Given the description of an element on the screen output the (x, y) to click on. 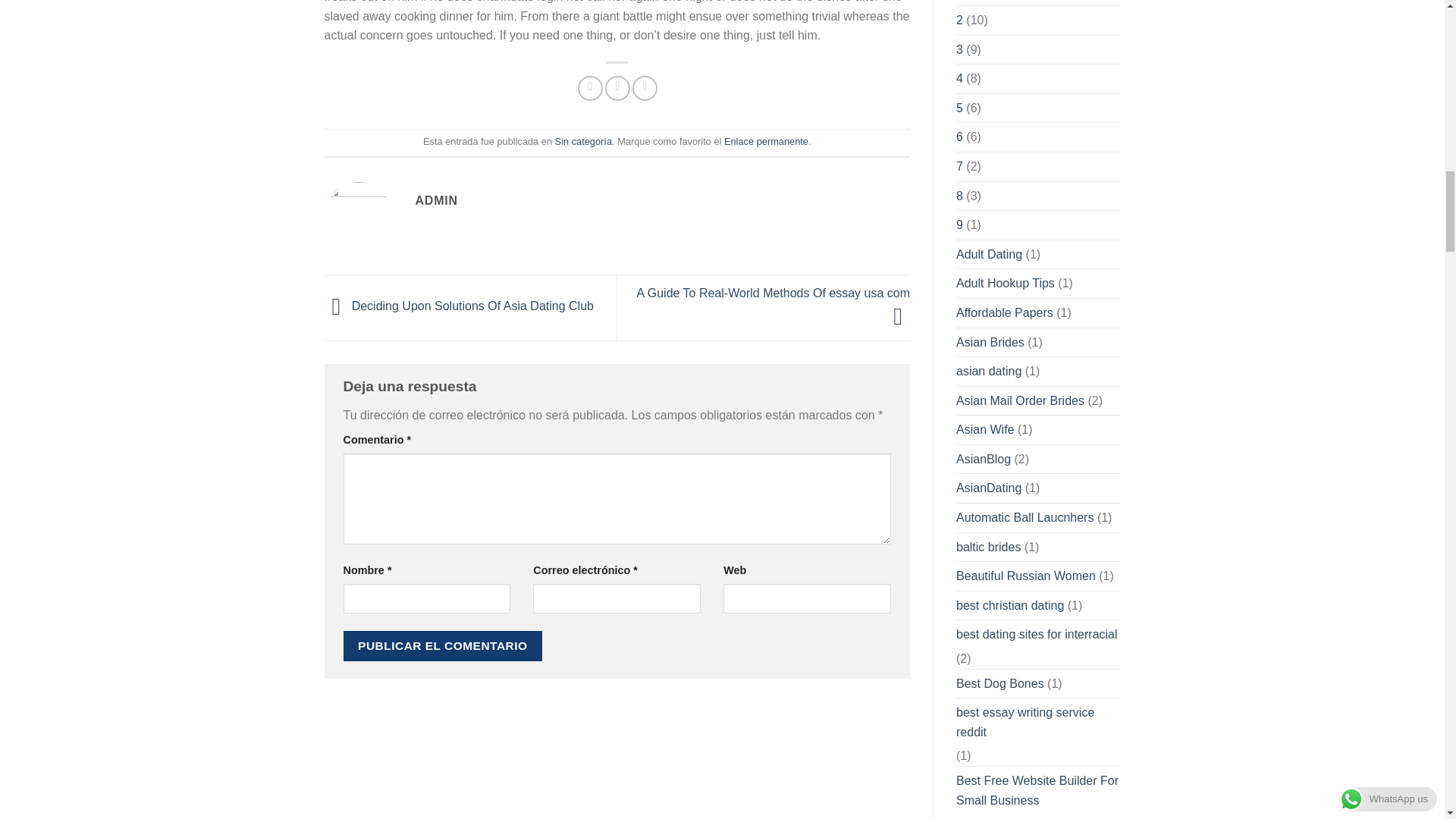
Publicar el comentario (441, 645)
Enlace permanente (765, 141)
Publicar el comentario (441, 645)
Enlace permanente a Choosing Real-World Plans In charm date (765, 141)
Deciding Upon Solutions Of Asia Dating Club (459, 306)
A Guide To Real-World Methods Of essay usa com (773, 304)
